Given the description of an element on the screen output the (x, y) to click on. 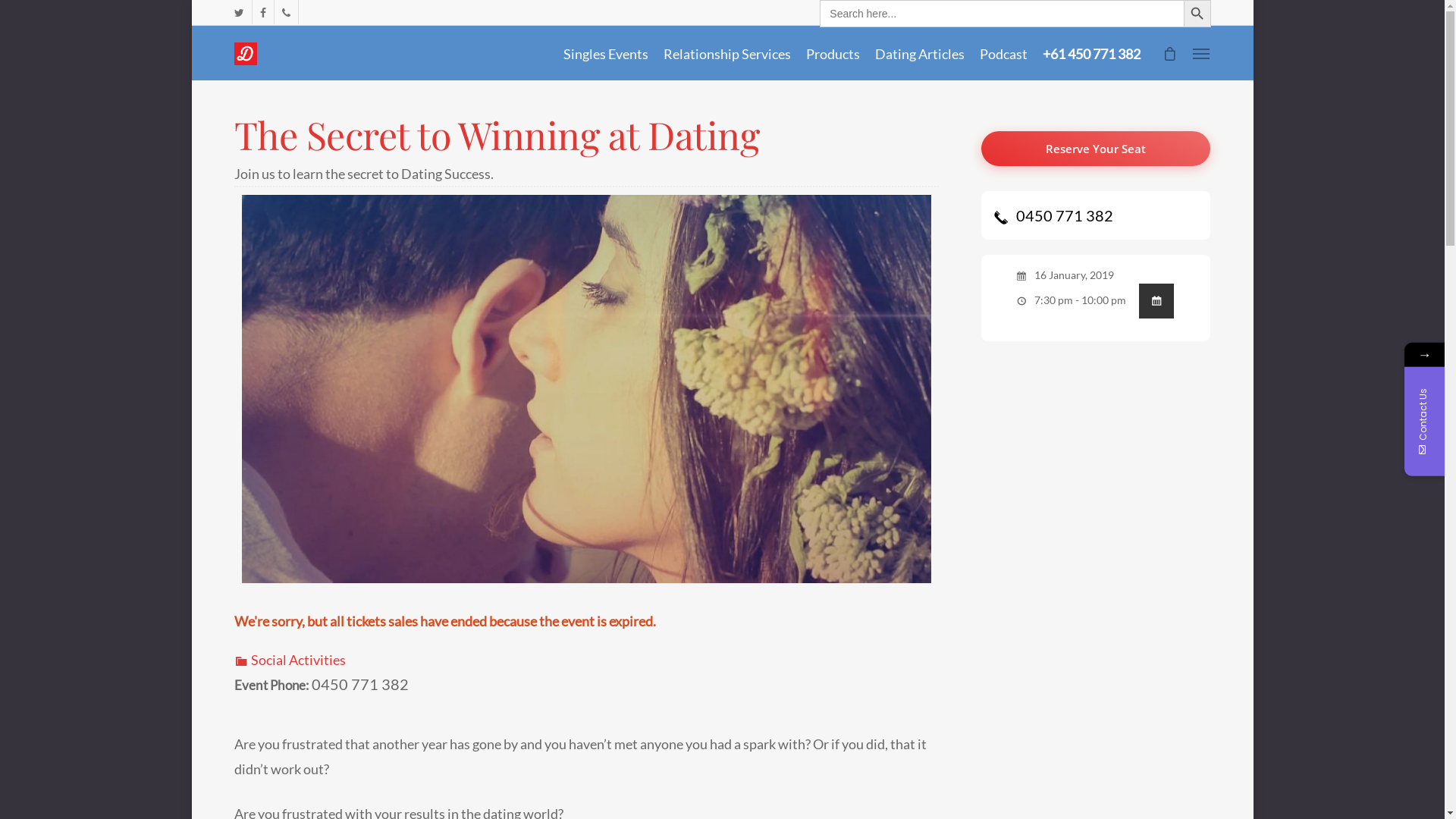
Reserve Your Seat Element type: text (1096, 148)
Podcast Element type: text (1003, 53)
Products Element type: text (831, 53)
Relationship Services Element type: text (726, 53)
0450 771 382 Element type: text (1053, 215)
Add to iCal Calendar Element type: hover (1156, 300)
+61 450 771 382 Element type: text (1090, 53)
The Secret to Winning at Dating Element type: text (496, 134)
Dating Articles Element type: text (919, 53)
Social Activities Element type: text (289, 659)
Singles Events Element type: text (605, 53)
Search Button Element type: text (1196, 13)
